Given the description of an element on the screen output the (x, y) to click on. 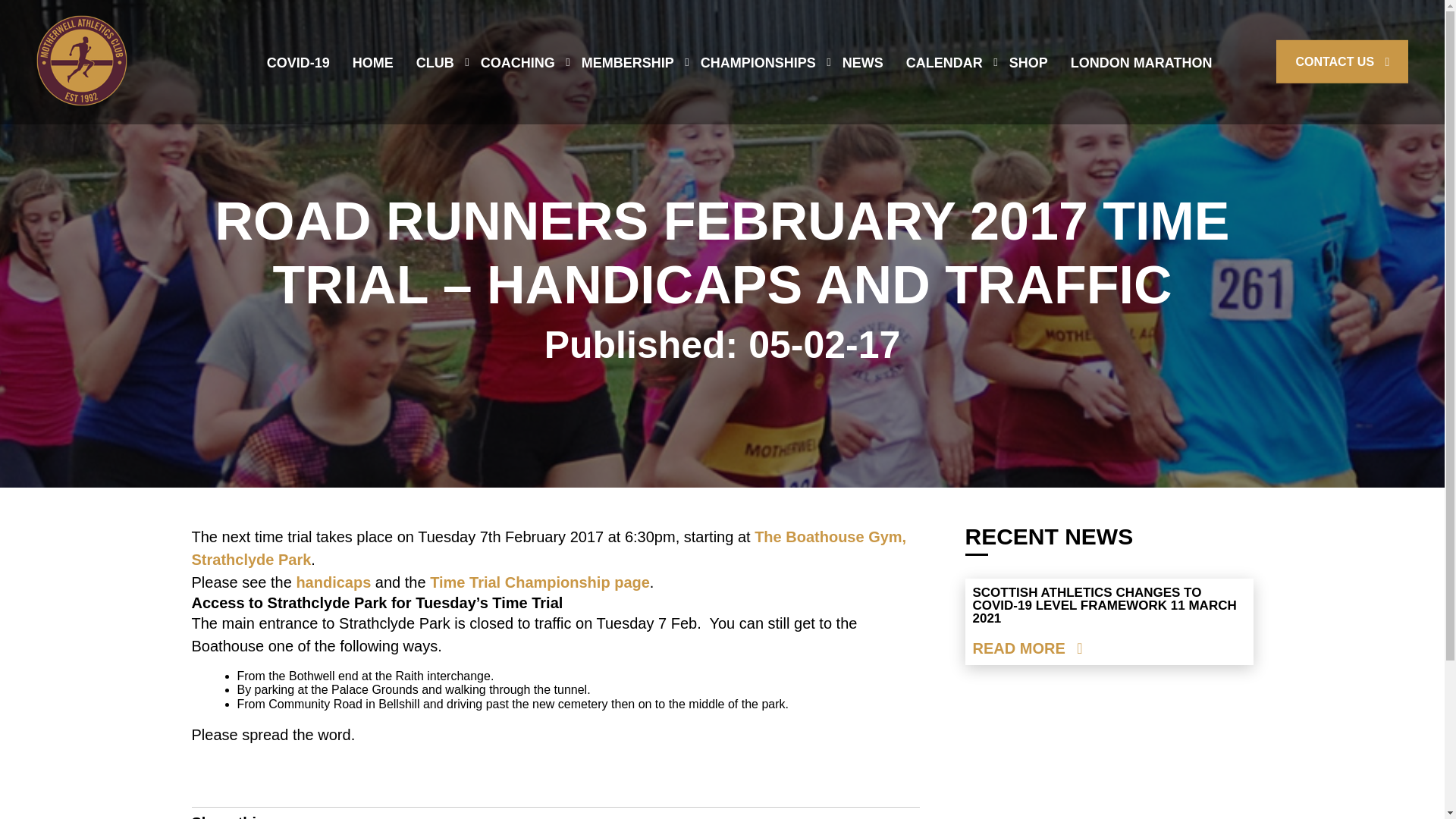
handicaps (331, 582)
LONDON MARATHON (1141, 62)
CALENDAR (943, 62)
NEWS (863, 62)
The Boathouse Gym, Strathclyde Park (547, 548)
CONTACT US (1341, 61)
READ MORE (1026, 647)
CHAMPIONSHIPS (757, 62)
CLUB (435, 62)
COVID-19 (298, 62)
COACHING (517, 62)
MEMBERSHIP (627, 62)
SHOP (1028, 62)
Time Trial Championship page (539, 582)
HOME (372, 62)
